Given the description of an element on the screen output the (x, y) to click on. 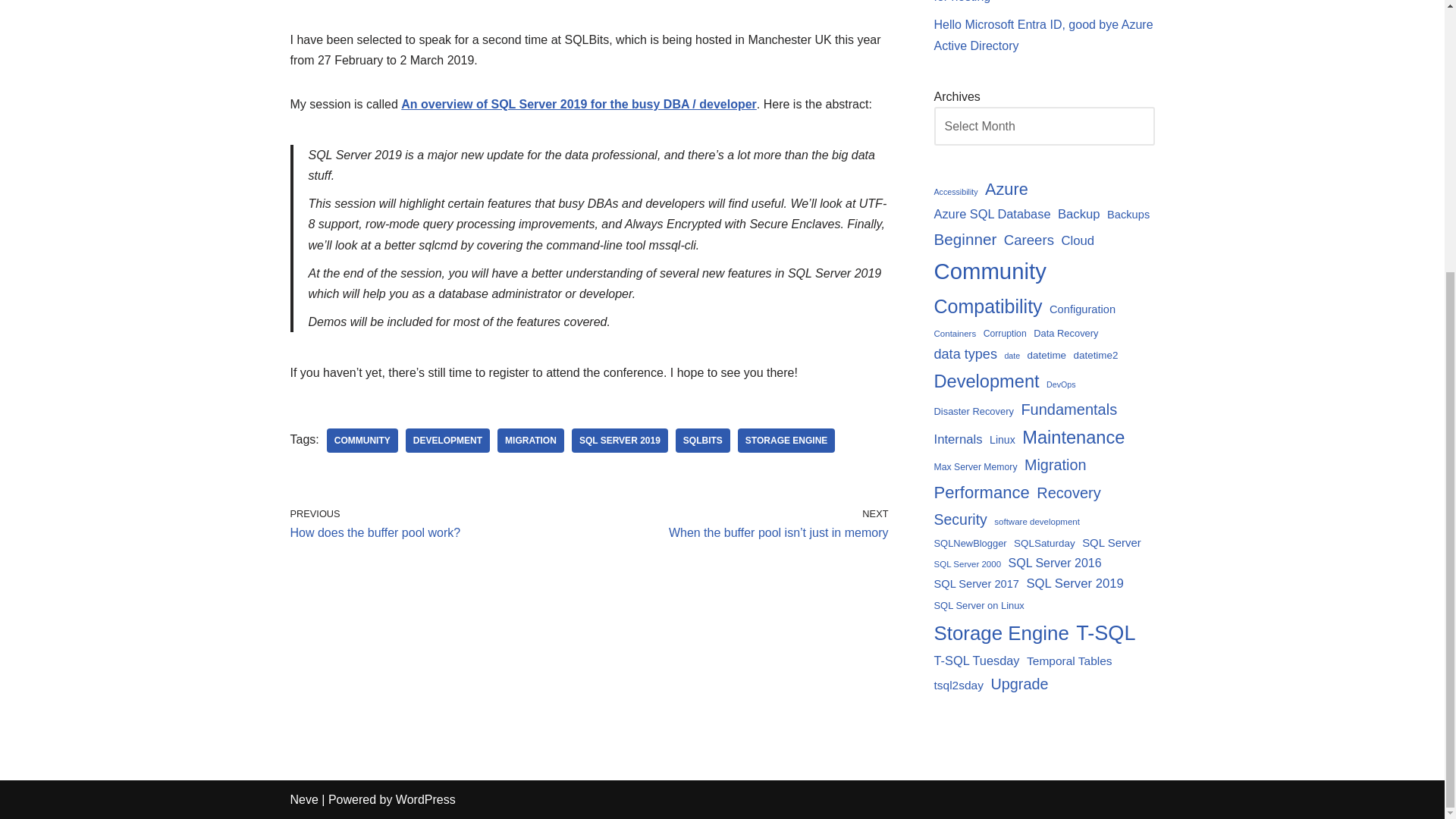
SQLBits (702, 440)
Development (447, 440)
SQL Server 2019 (620, 440)
Migration (530, 440)
Community (361, 440)
Storage Engine (786, 440)
